Given the description of an element on the screen output the (x, y) to click on. 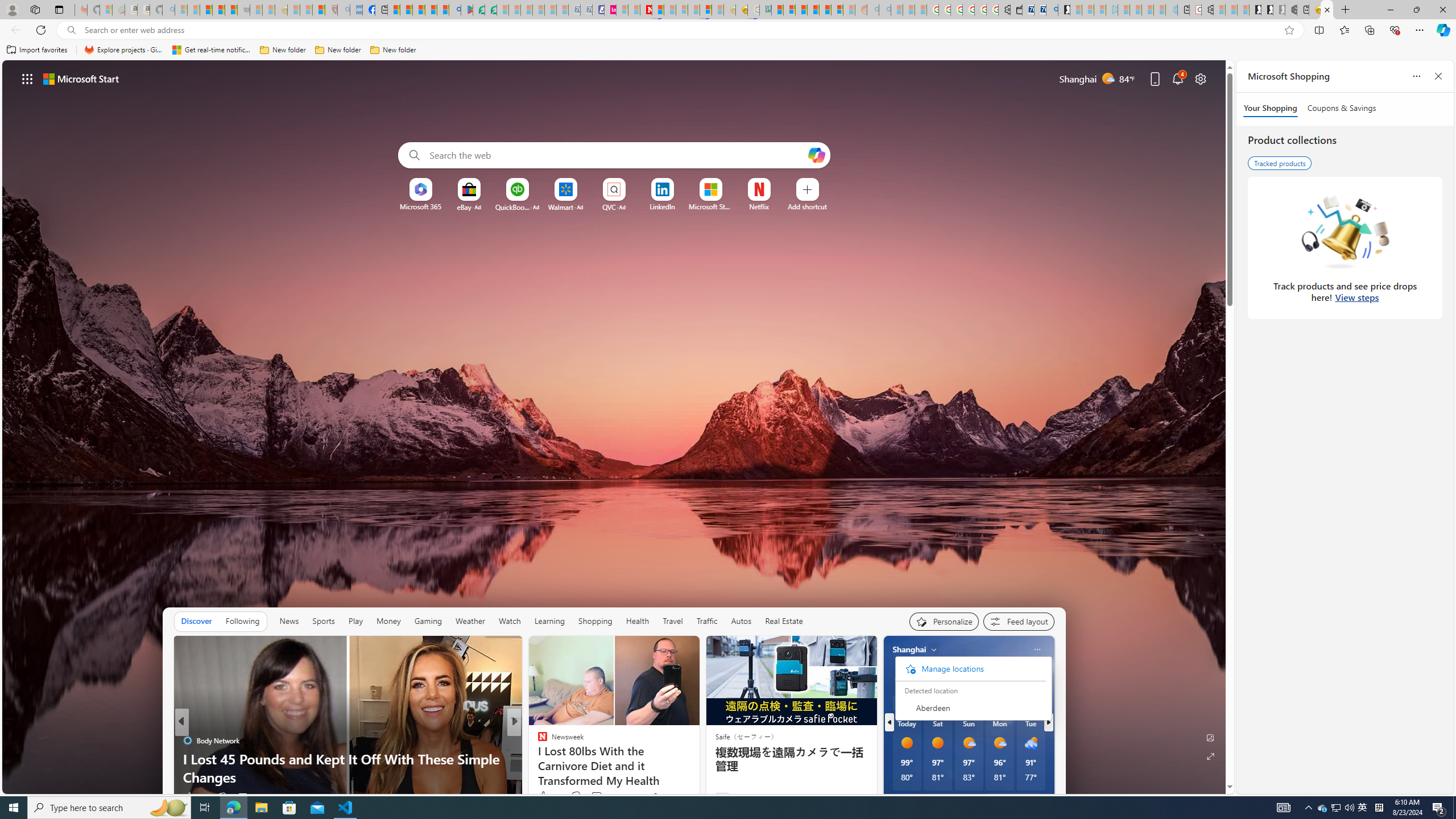
View comments 73 Comment (601, 795)
Play (354, 621)
Utah sues federal government - Search - Sleeping (884, 9)
Local - MSN (318, 9)
Real Estate (783, 621)
Microsoft Start Gaming (1063, 9)
